Given the description of an element on the screen output the (x, y) to click on. 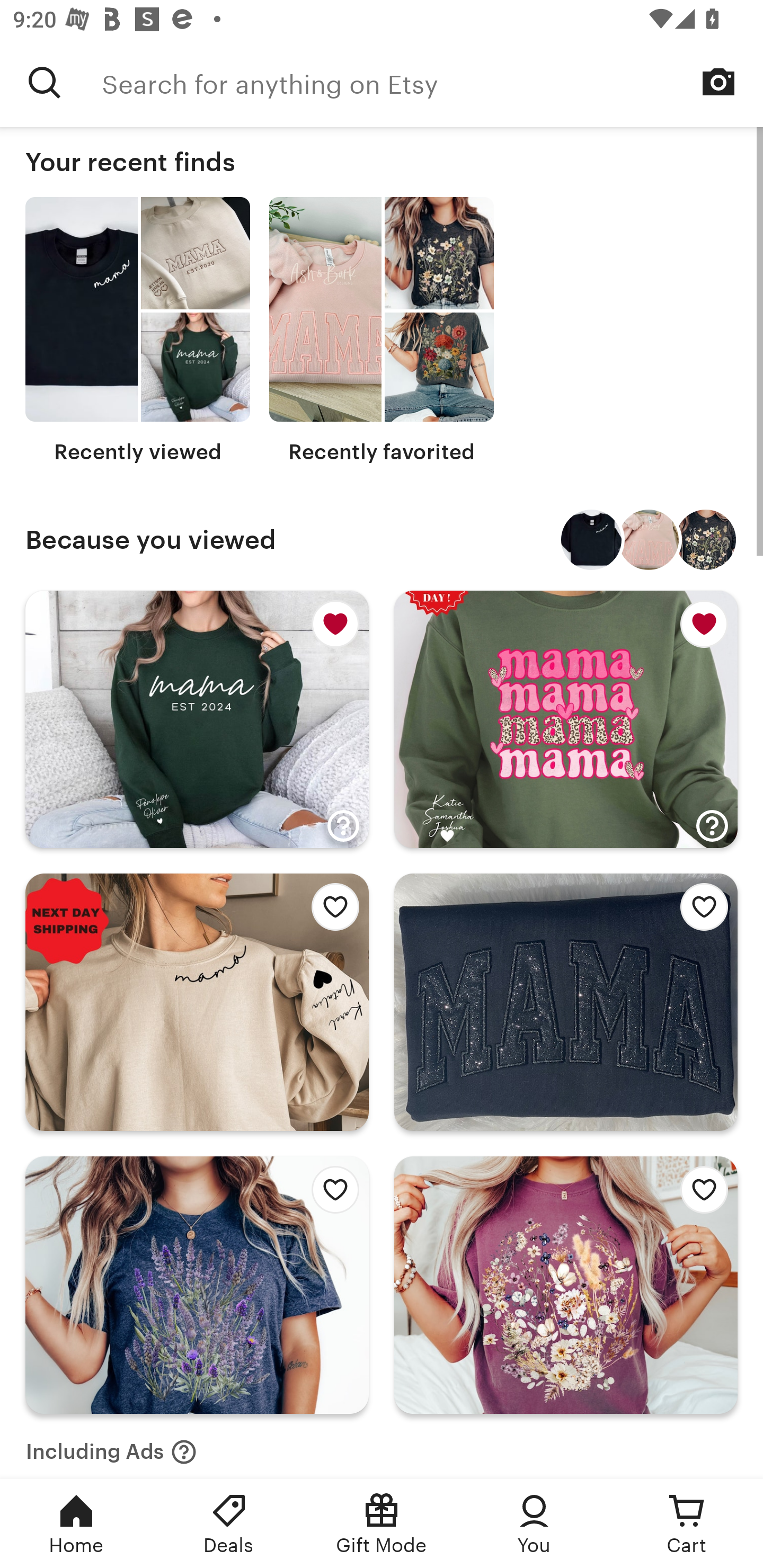
Search for anything on Etsy (44, 82)
Search by image (718, 81)
Search for anything on Etsy (432, 82)
Recently viewed (137, 330)
Recently favorited (381, 330)
Including Ads (111, 1446)
Deals (228, 1523)
Gift Mode (381, 1523)
You (533, 1523)
Cart (686, 1523)
